Given the description of an element on the screen output the (x, y) to click on. 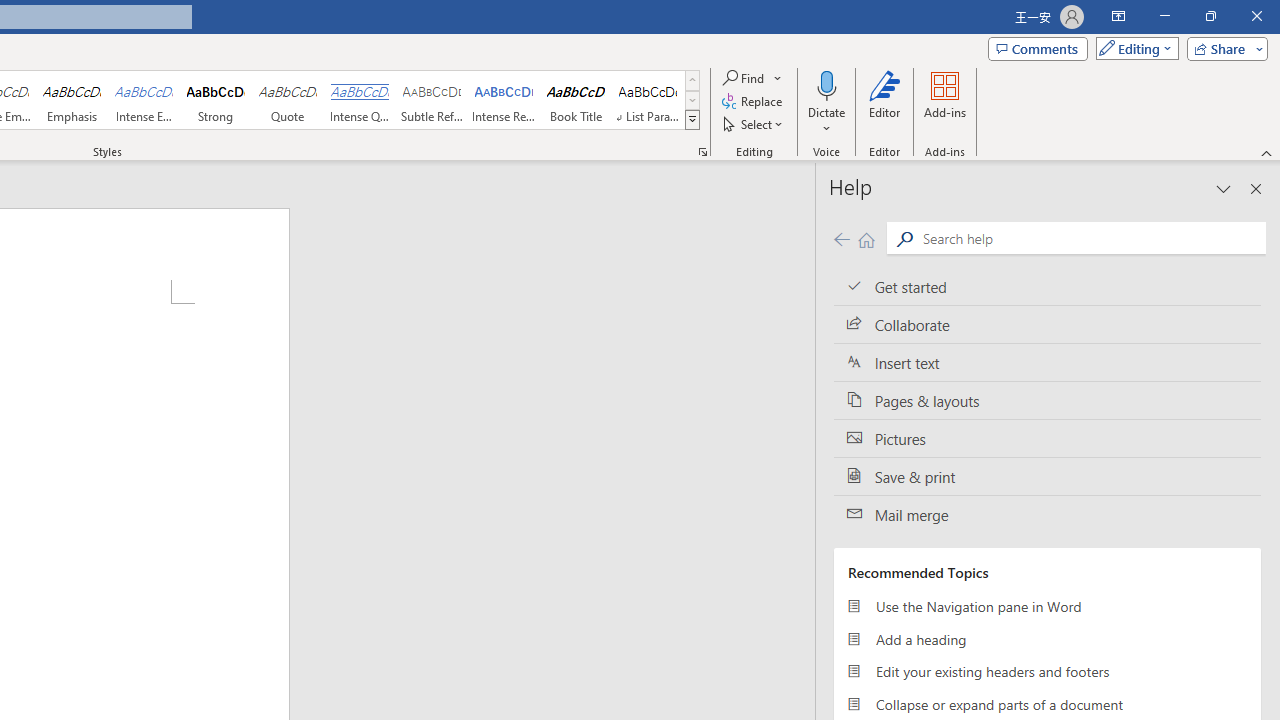
Pictures (1047, 438)
Add a heading (1047, 638)
Mail merge (1047, 515)
Insert text (1047, 363)
Use the Navigation pane in Word (1047, 605)
Subtle Reference (431, 100)
Previous page (841, 238)
Collaborate (1047, 325)
Collapse or expand parts of a document (1047, 704)
Save & print (1047, 476)
